Given the description of an element on the screen output the (x, y) to click on. 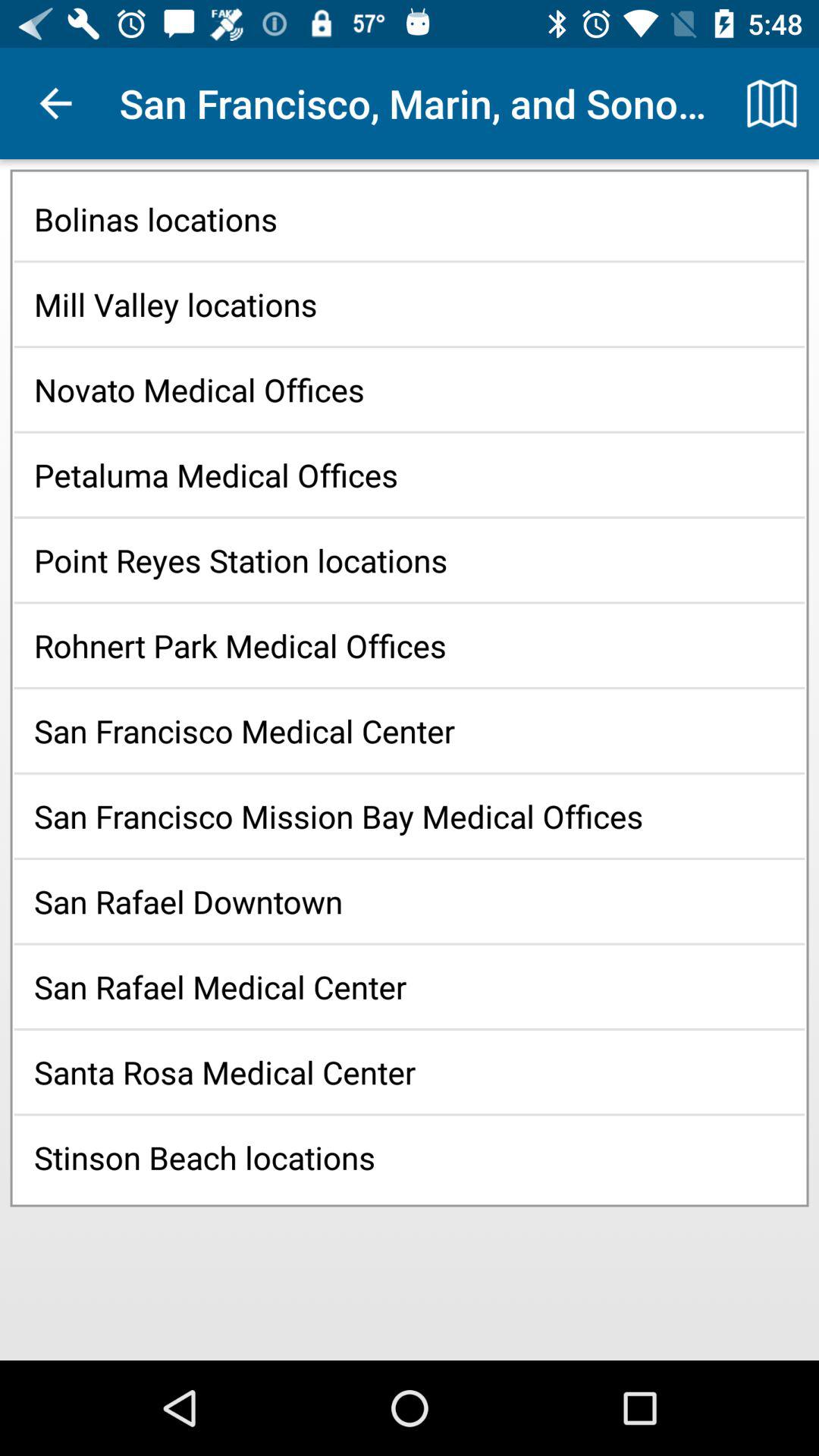
launch icon at the top left corner (55, 103)
